Given the description of an element on the screen output the (x, y) to click on. 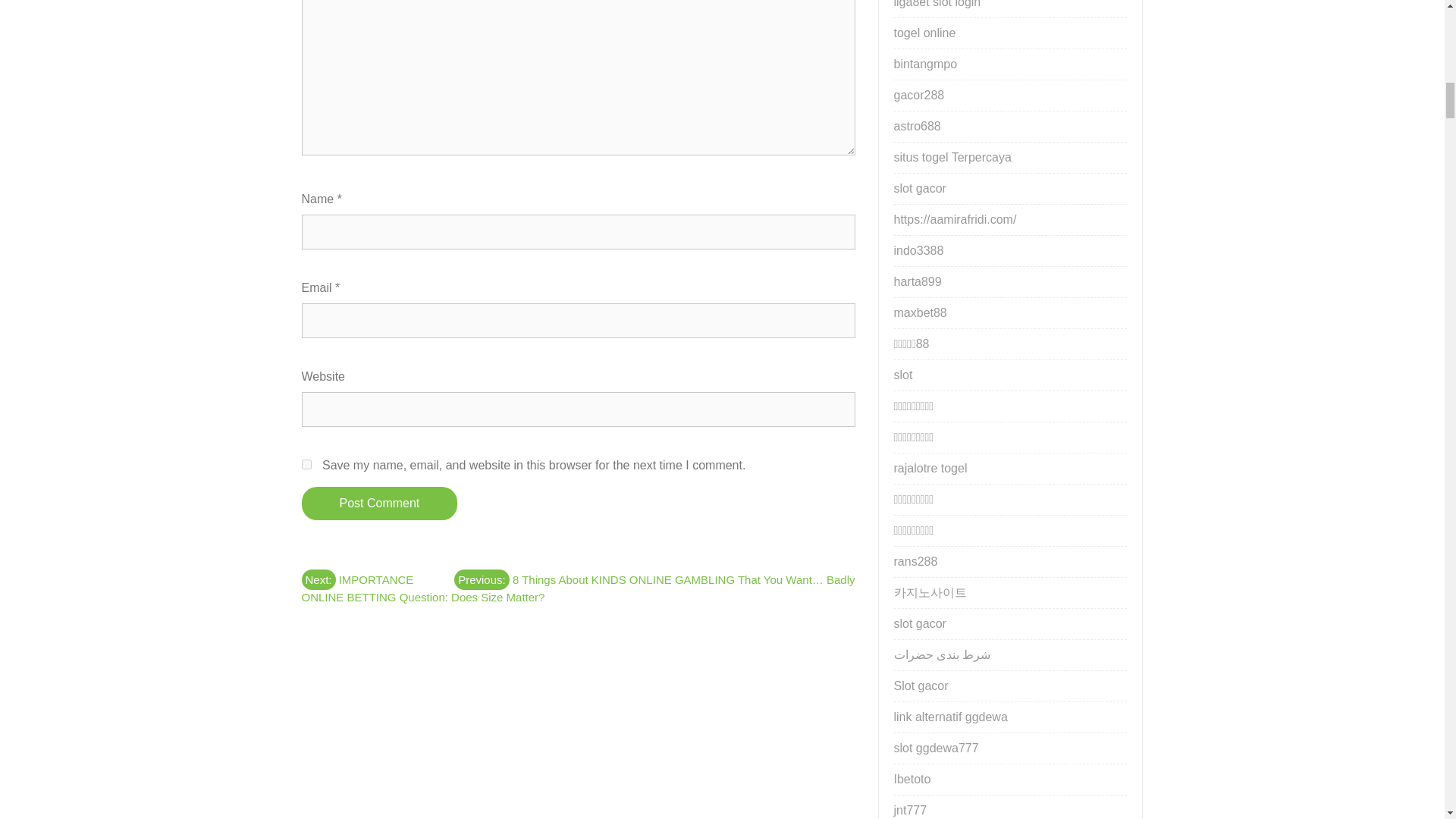
Post Comment (379, 503)
Post Comment (379, 503)
yes (306, 464)
Next: IMPORTANCE ONLINE BETTING Question: Does Size Matter? (422, 586)
